Given the description of an element on the screen output the (x, y) to click on. 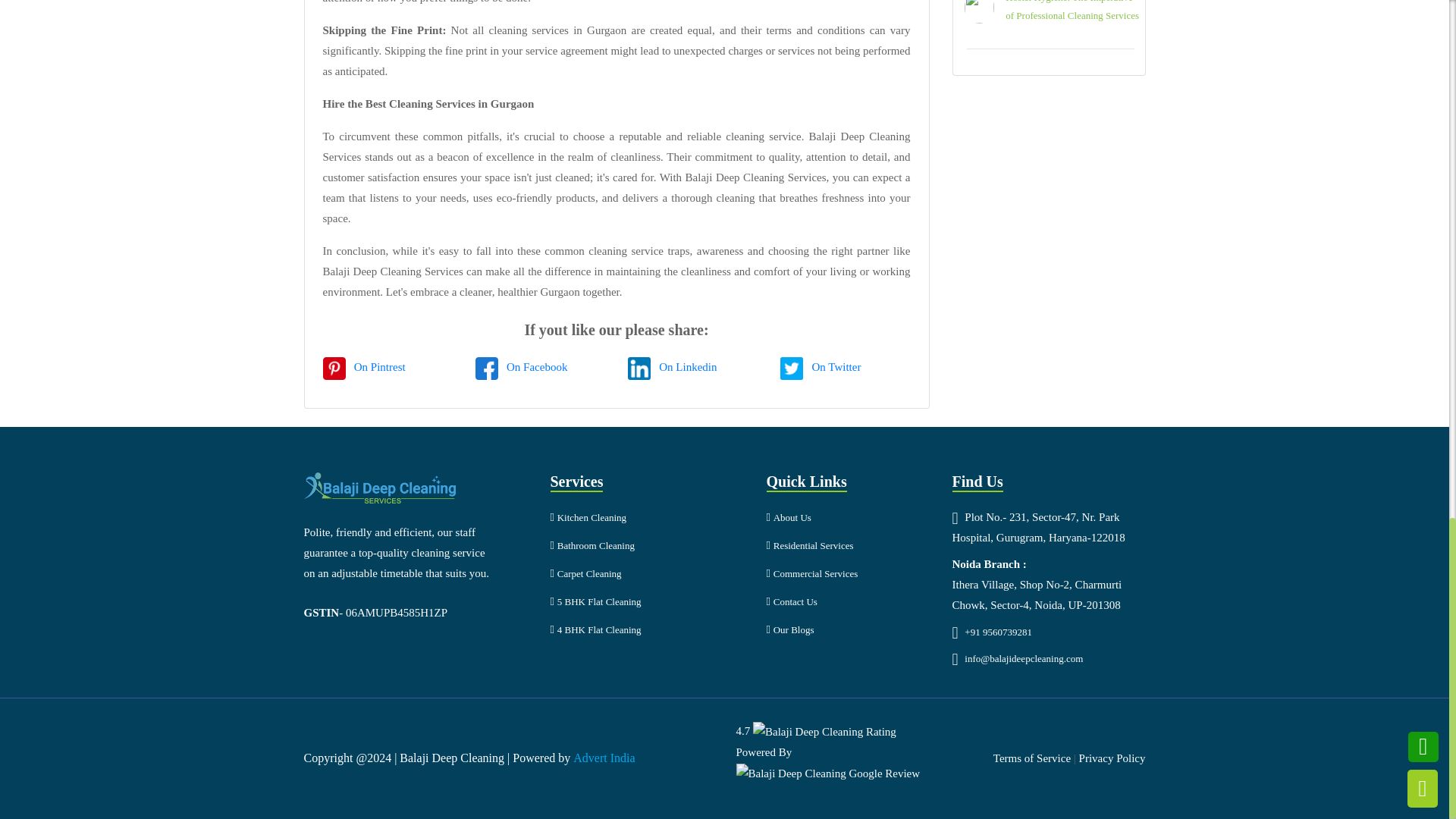
On Facebook (536, 367)
On Twitter (835, 367)
On Pintrest (379, 367)
On Linkedin (687, 367)
